Given the description of an element on the screen output the (x, y) to click on. 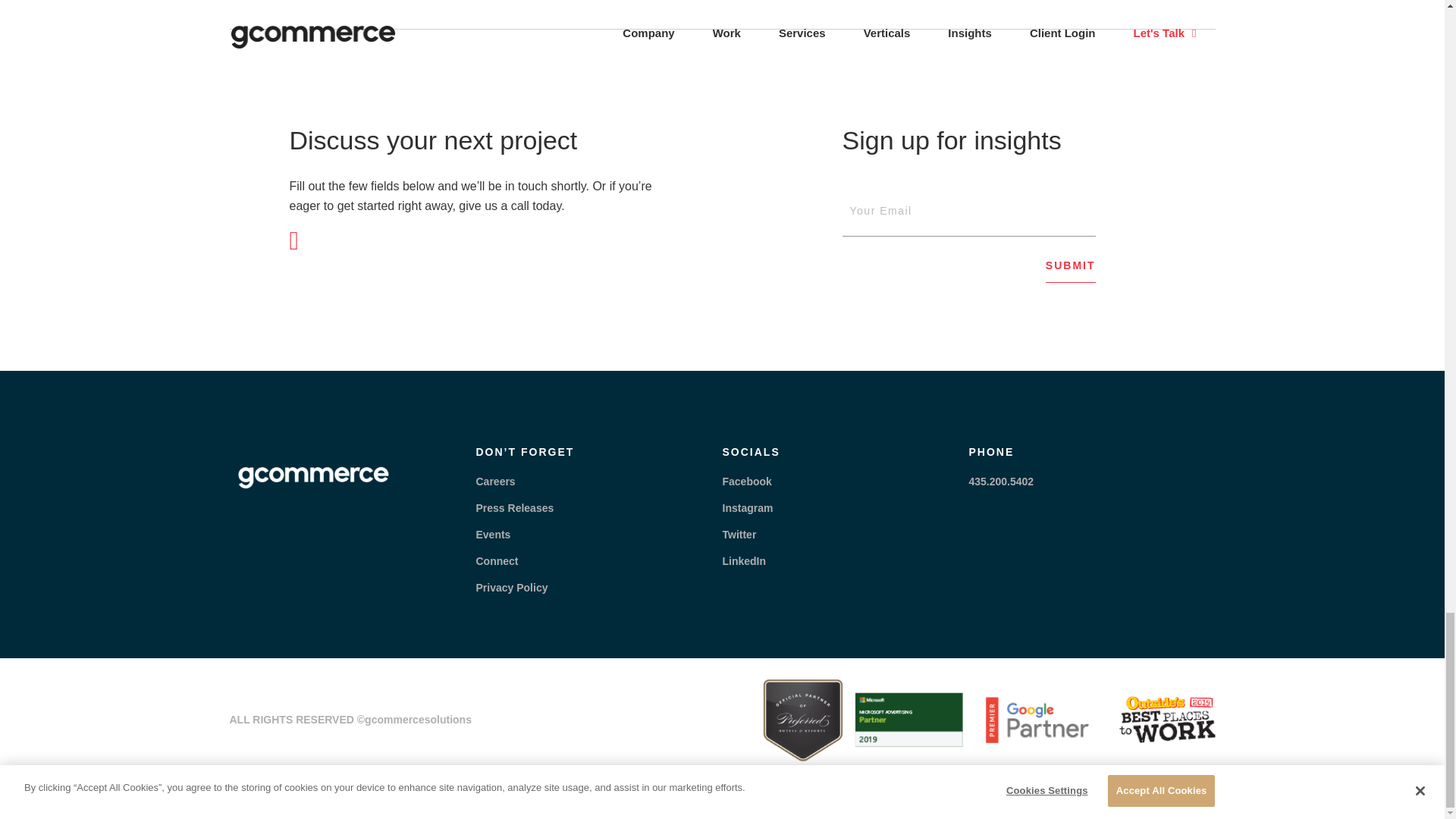
Events (493, 534)
SUBMIT (1070, 270)
Privacy Policy (512, 587)
Connect (497, 561)
Careers (495, 481)
Facebook (746, 481)
Press Releases (515, 508)
